Given the description of an element on the screen output the (x, y) to click on. 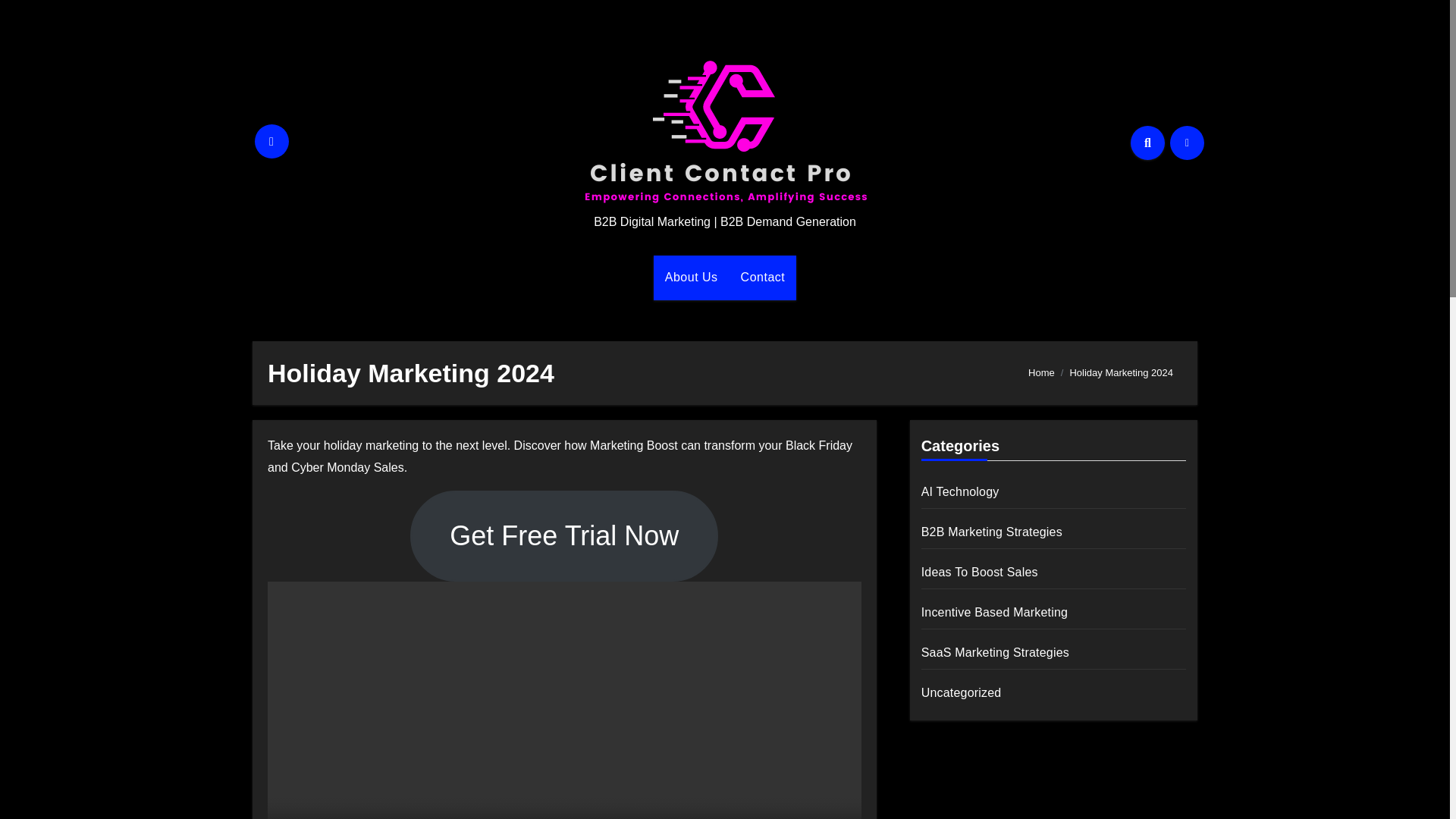
About Us (691, 277)
Home (1040, 372)
SaaS Marketing Strategies (994, 652)
Uncategorized (961, 692)
B2B Marketing Strategies (991, 531)
Ideas To Boost Sales (979, 571)
Get Free Trial Now (563, 535)
Incentive Based Marketing (994, 612)
Contact (762, 277)
About Us (691, 277)
AI Technology (959, 491)
Contact (762, 277)
